Given the description of an element on the screen output the (x, y) to click on. 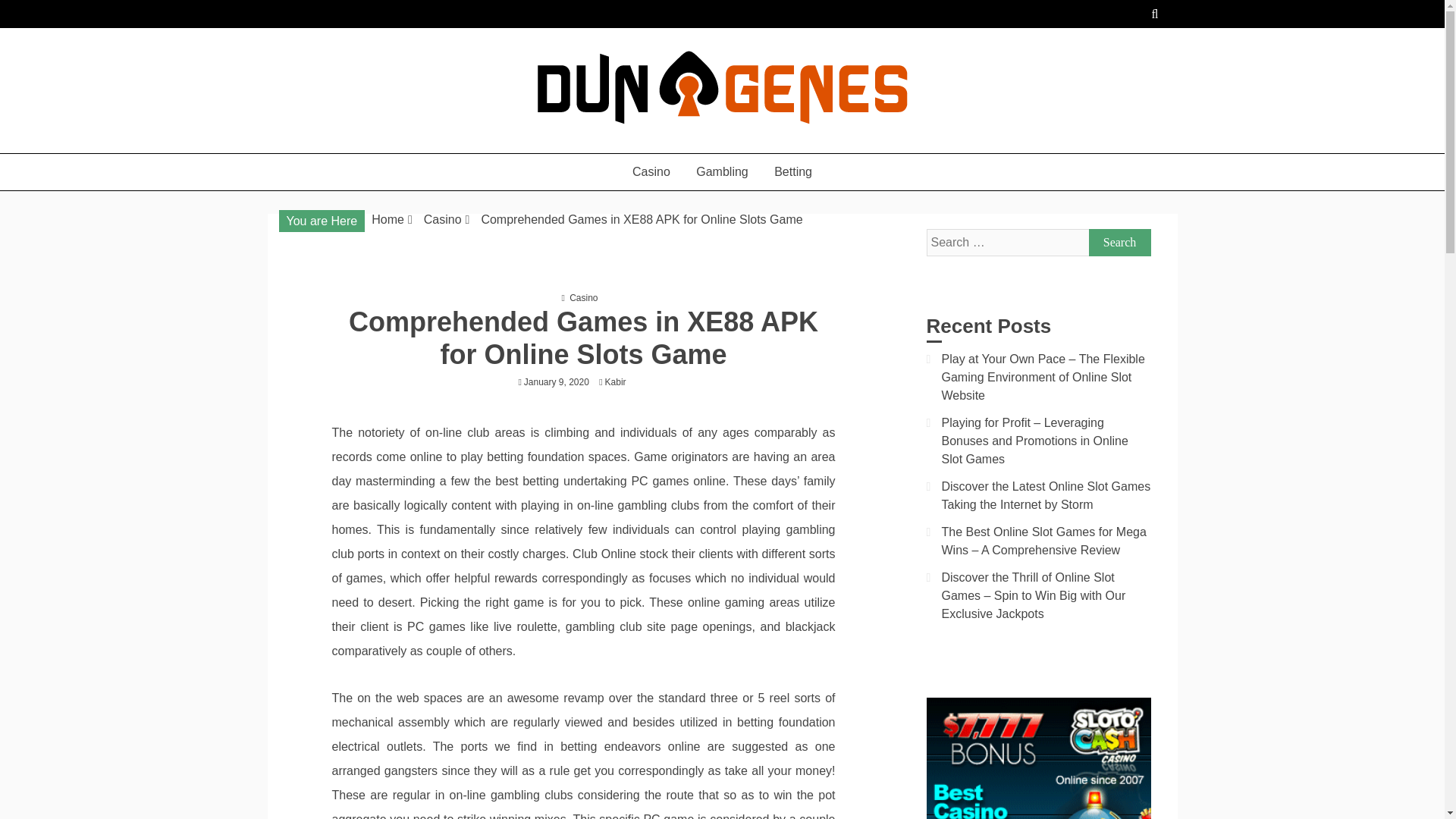
Comprehended Games in XE88 APK for Online Slots Game (641, 219)
Casino (582, 297)
Search (1120, 242)
Gambling (721, 171)
January 9, 2020 (556, 381)
Casino play free online (412, 146)
Casino (651, 171)
Home (387, 219)
Search (1120, 242)
Search (1120, 242)
Casino (442, 219)
Kabir (619, 381)
Betting (793, 171)
